Given the description of an element on the screen output the (x, y) to click on. 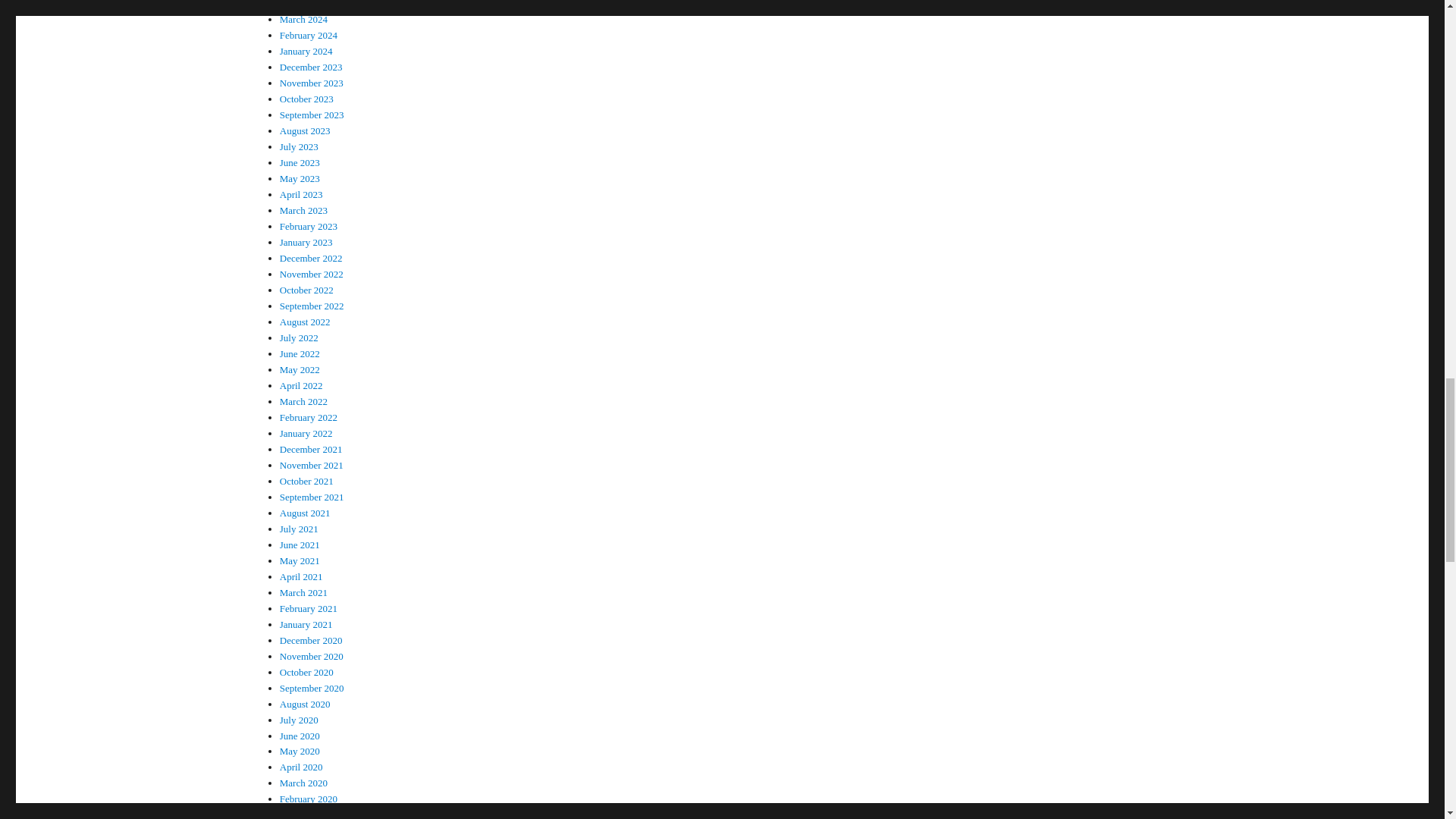
July 2022 (298, 337)
December 2022 (310, 257)
May 2022 (299, 369)
February 2024 (308, 34)
August 2022 (304, 321)
February 2022 (308, 417)
June 2022 (299, 353)
November 2022 (311, 274)
November 2023 (311, 82)
January 2022 (306, 432)
